Given the description of an element on the screen output the (x, y) to click on. 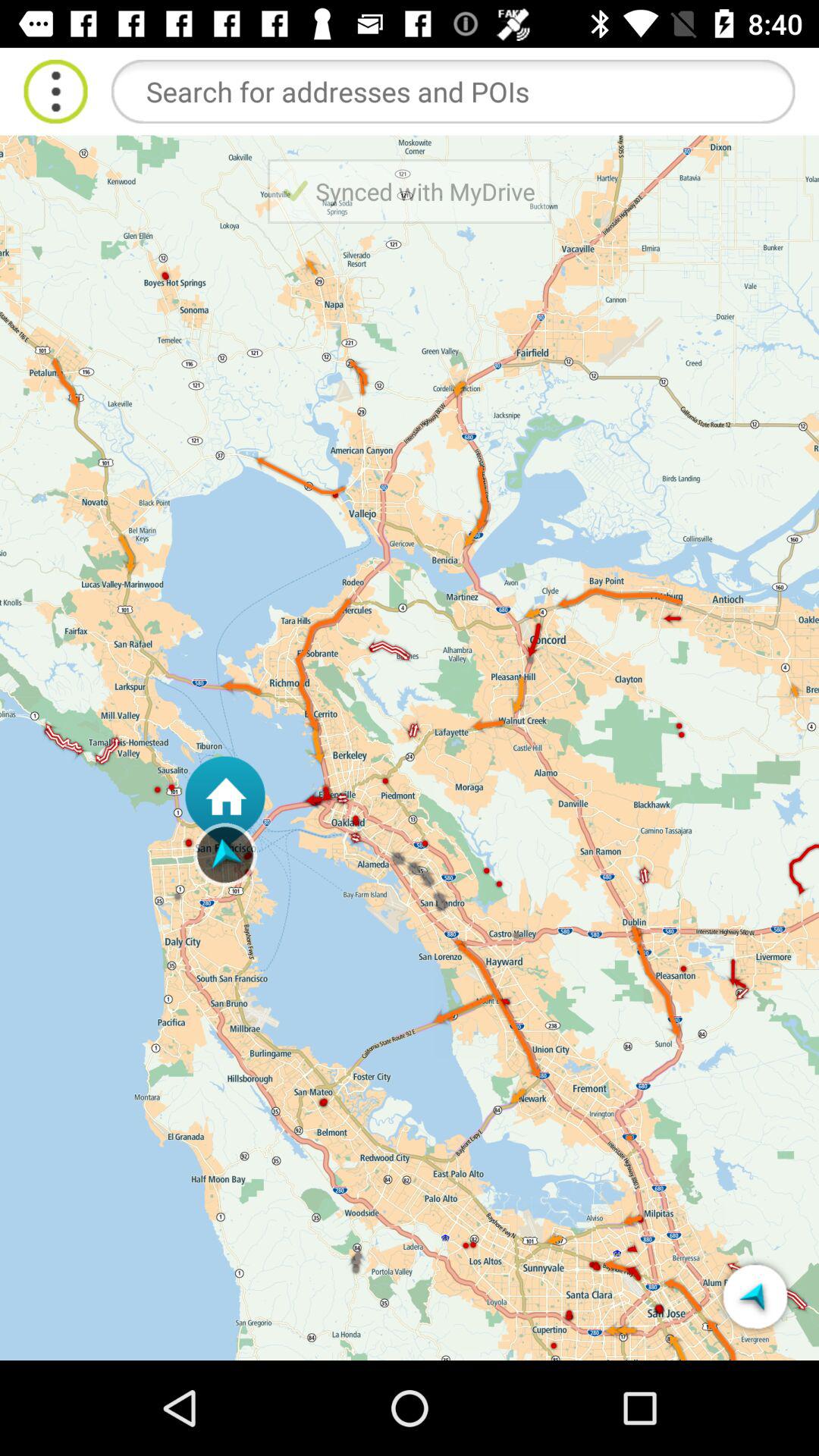
settings (55, 91)
